Given the description of an element on the screen output the (x, y) to click on. 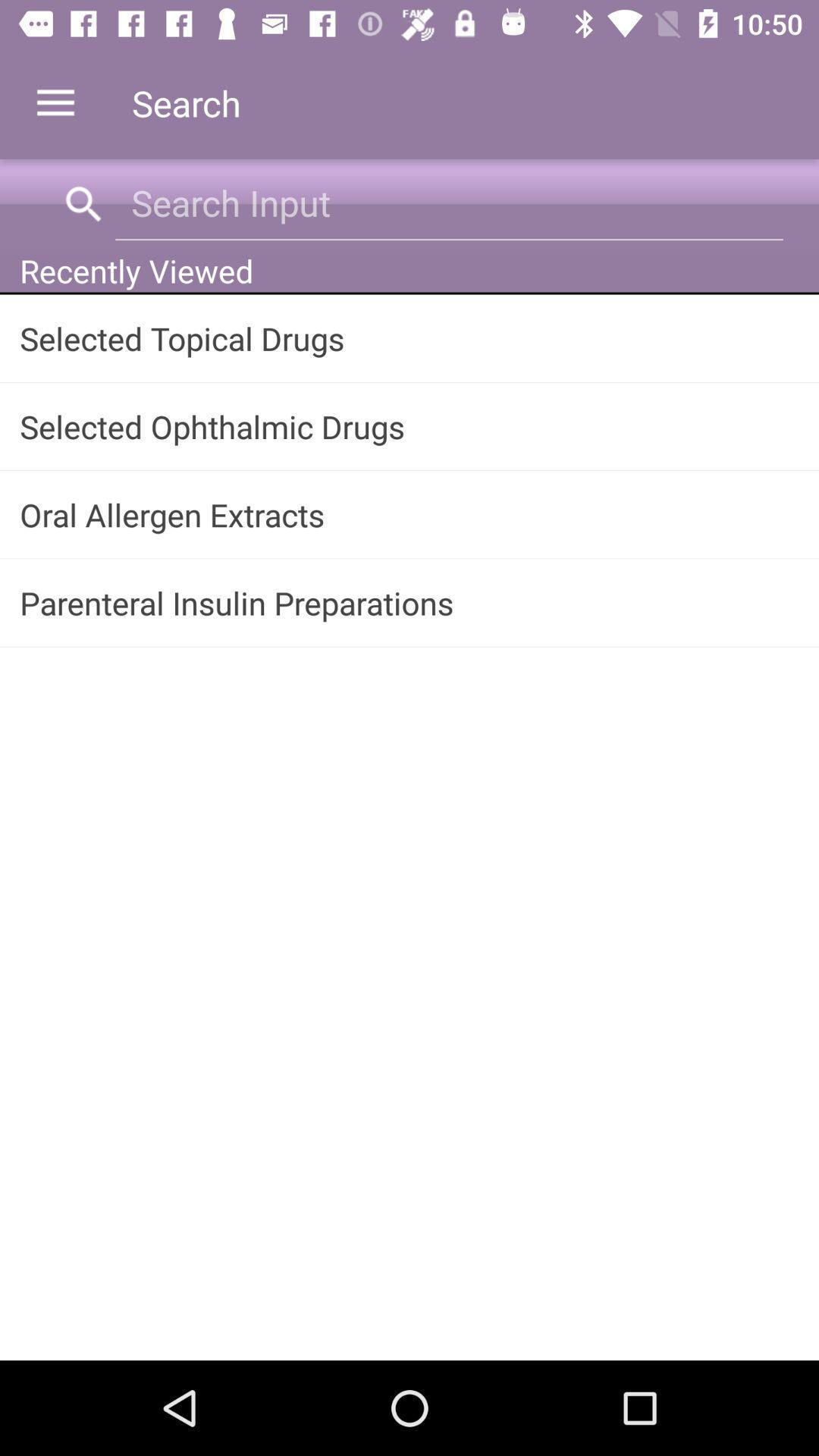
open selected topical drugs app (409, 338)
